Given the description of an element on the screen output the (x, y) to click on. 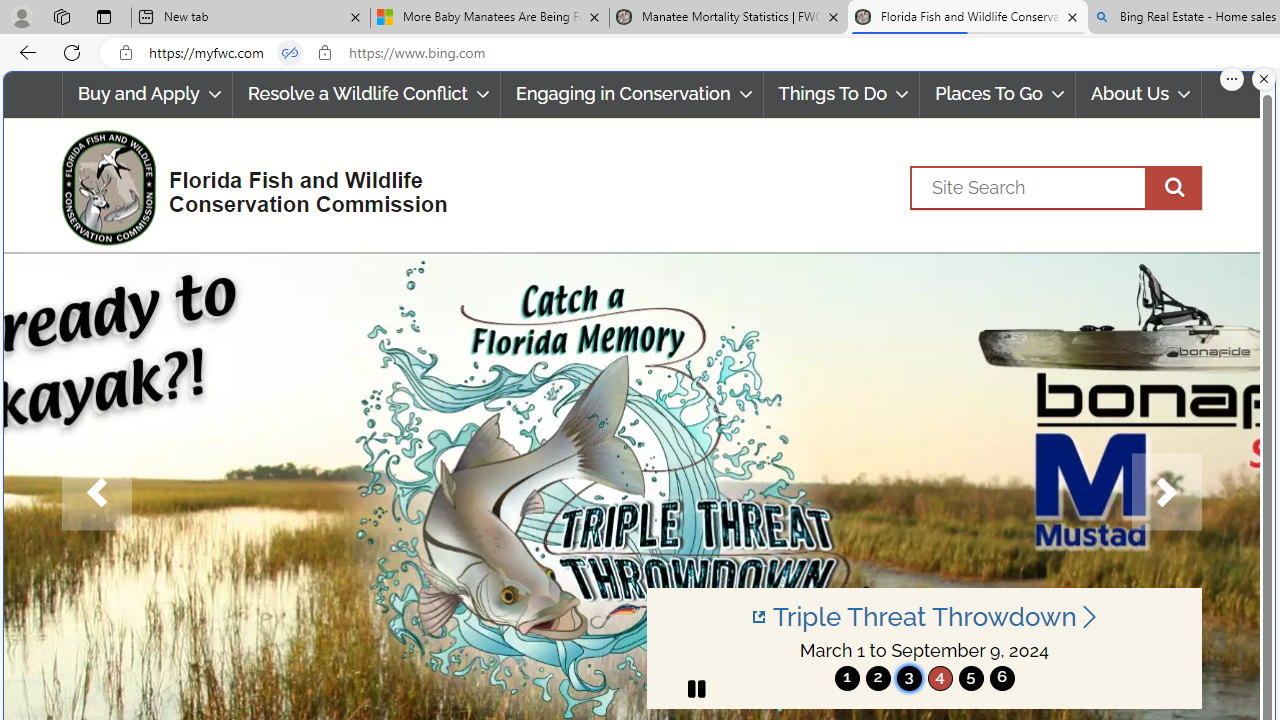
move to slide 6 (1002, 678)
move to slide 3 (908, 678)
Previous (96, 491)
move to slide 1 (847, 678)
5 (970, 678)
About Us (1139, 94)
Tabs in split screen (289, 53)
FWC Logo (108, 187)
6 (1002, 678)
slider pause button (696, 688)
FWC Logo Florida Fish and Wildlife Conservation Commission (246, 185)
Tab actions menu (104, 16)
4 (939, 678)
Resolve a Wildlife Conflict (365, 94)
